Given the description of an element on the screen output the (x, y) to click on. 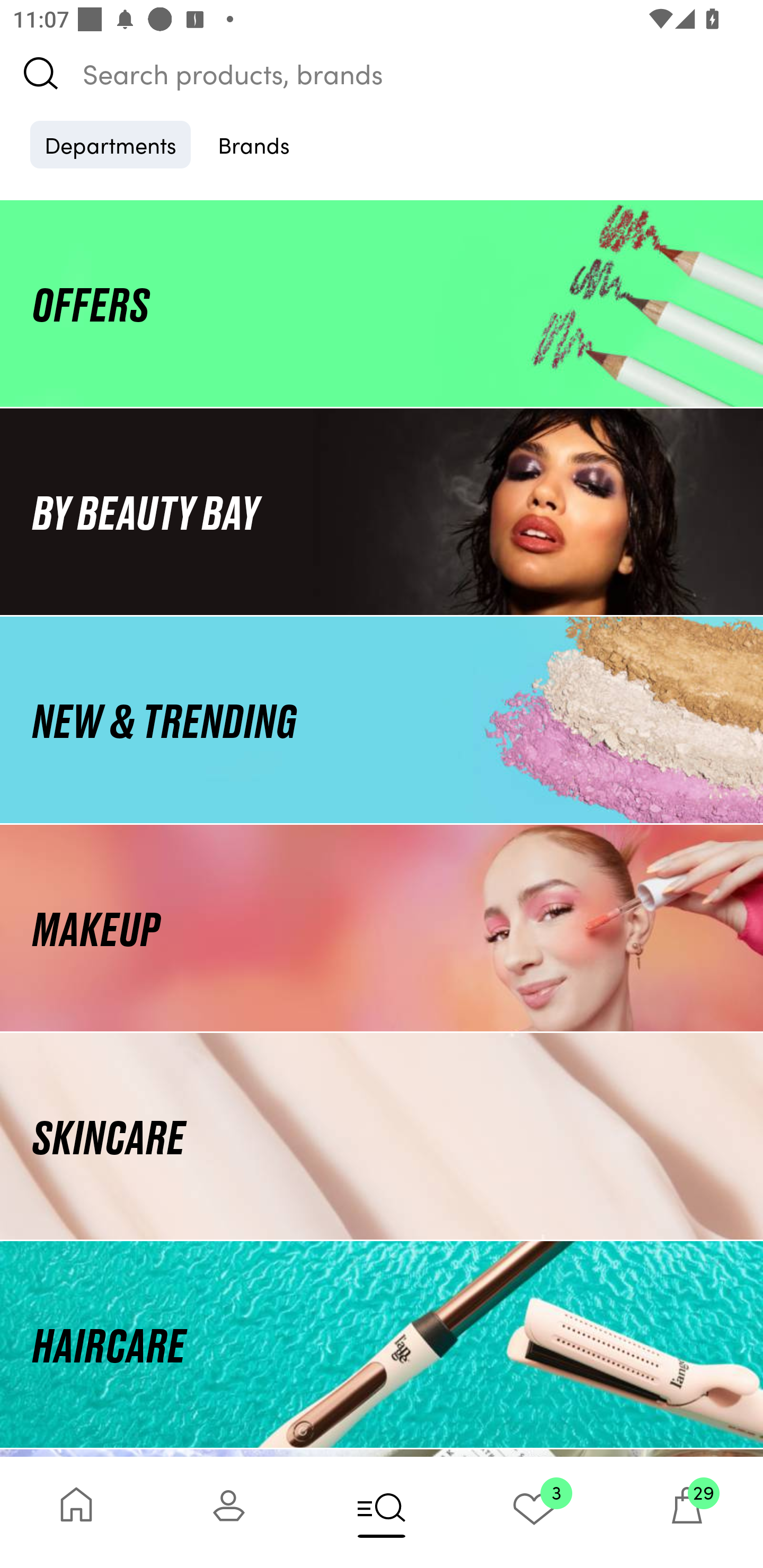
Search products, brands (381, 72)
Departments (110, 143)
Brands (253, 143)
OFFERS (381, 303)
BY BEAUTY BAY (381, 510)
NEW & TRENDING (381, 719)
MAKEUP (381, 927)
SKINCARE (381, 1136)
HAIRCARE (381, 1344)
3 (533, 1512)
29 (686, 1512)
